Given the description of an element on the screen output the (x, y) to click on. 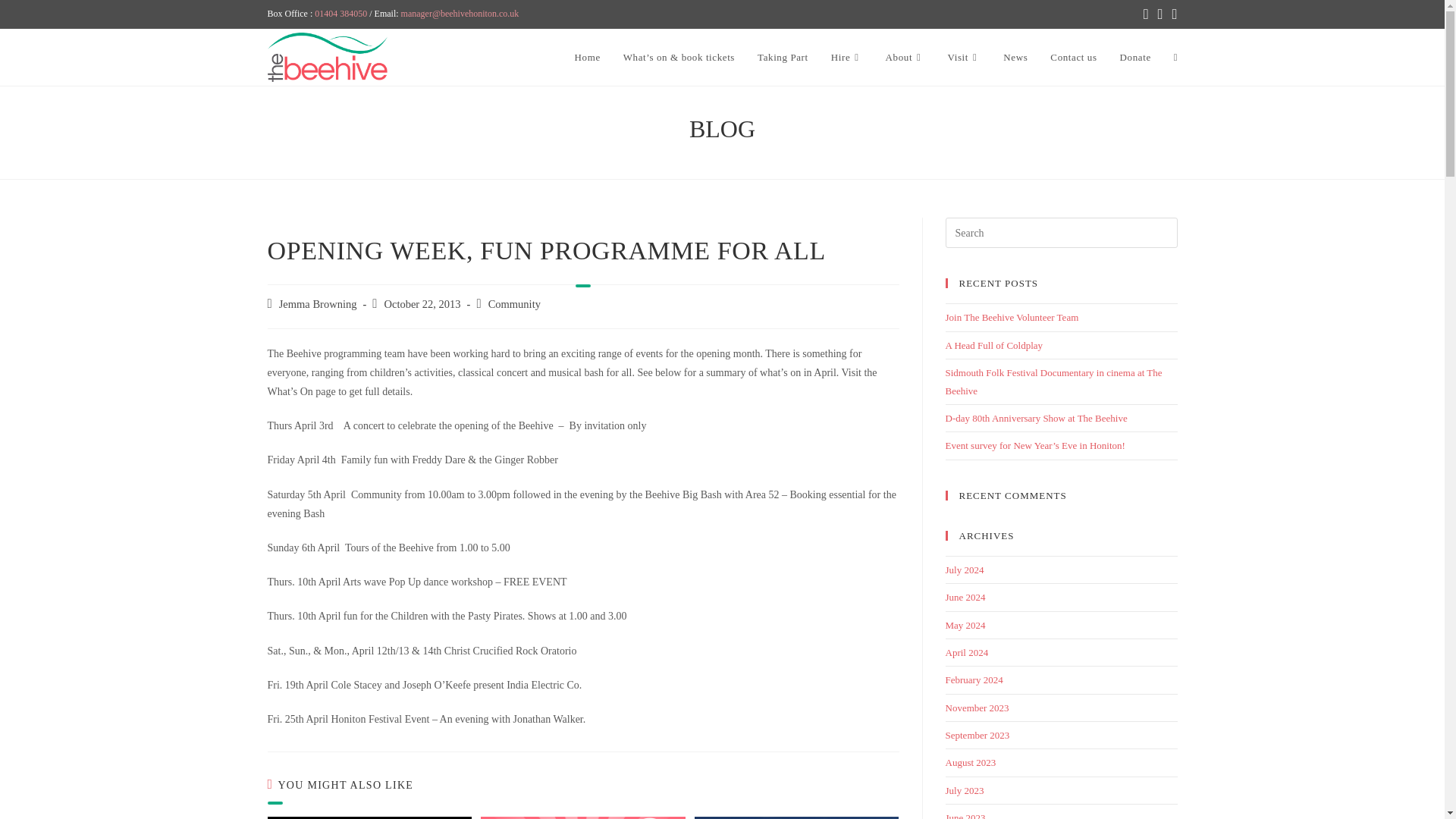
Taking Part (782, 57)
About (905, 57)
Contact us (1073, 57)
01404 384050 (340, 13)
Posts by Jemma Browning (317, 304)
Donate (1134, 57)
Visit (963, 57)
Hire (847, 57)
